Given the description of an element on the screen output the (x, y) to click on. 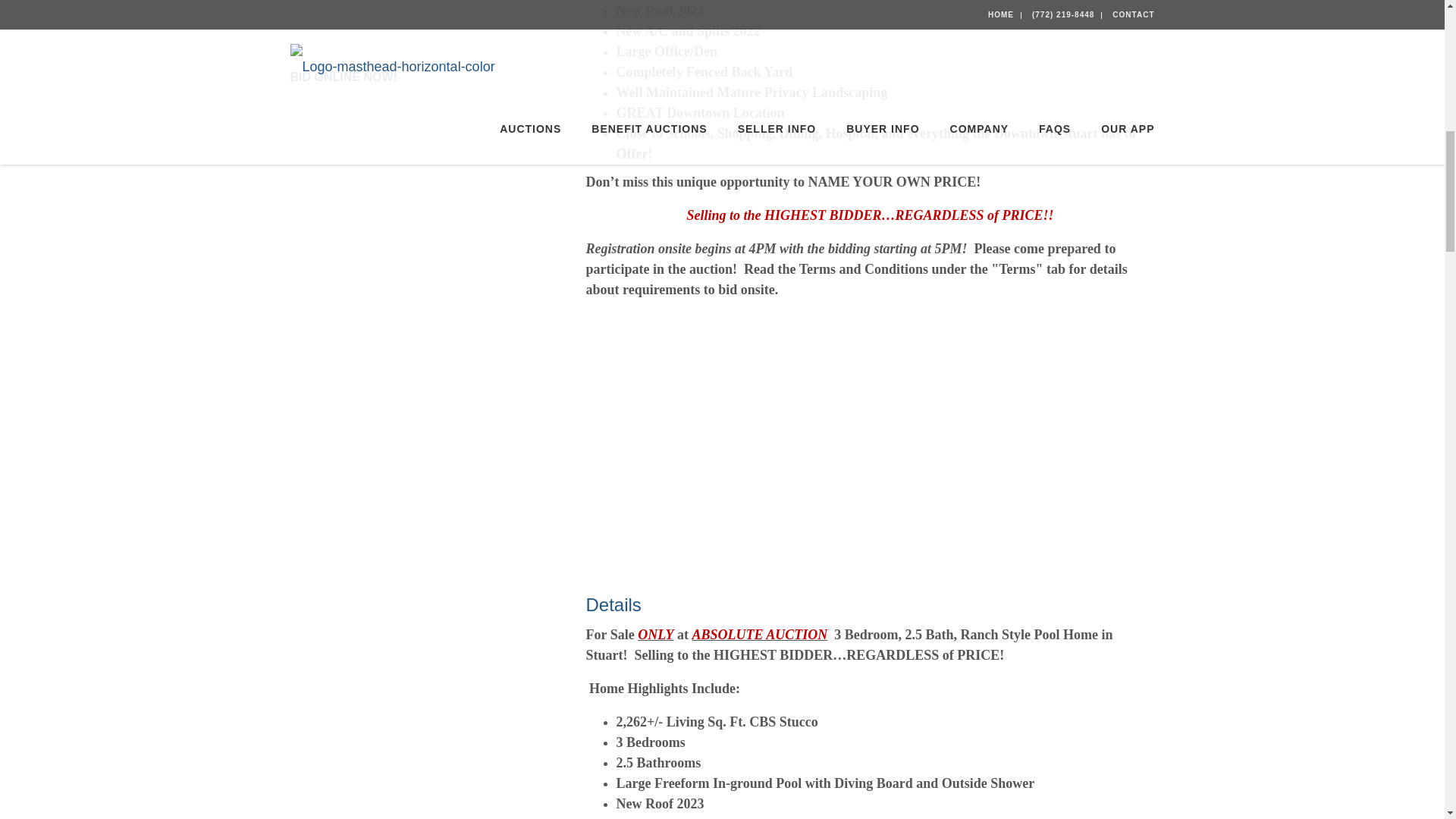
BID ONLINE NOW! (342, 76)
Bid Online Now! (342, 76)
